Given the description of an element on the screen output the (x, y) to click on. 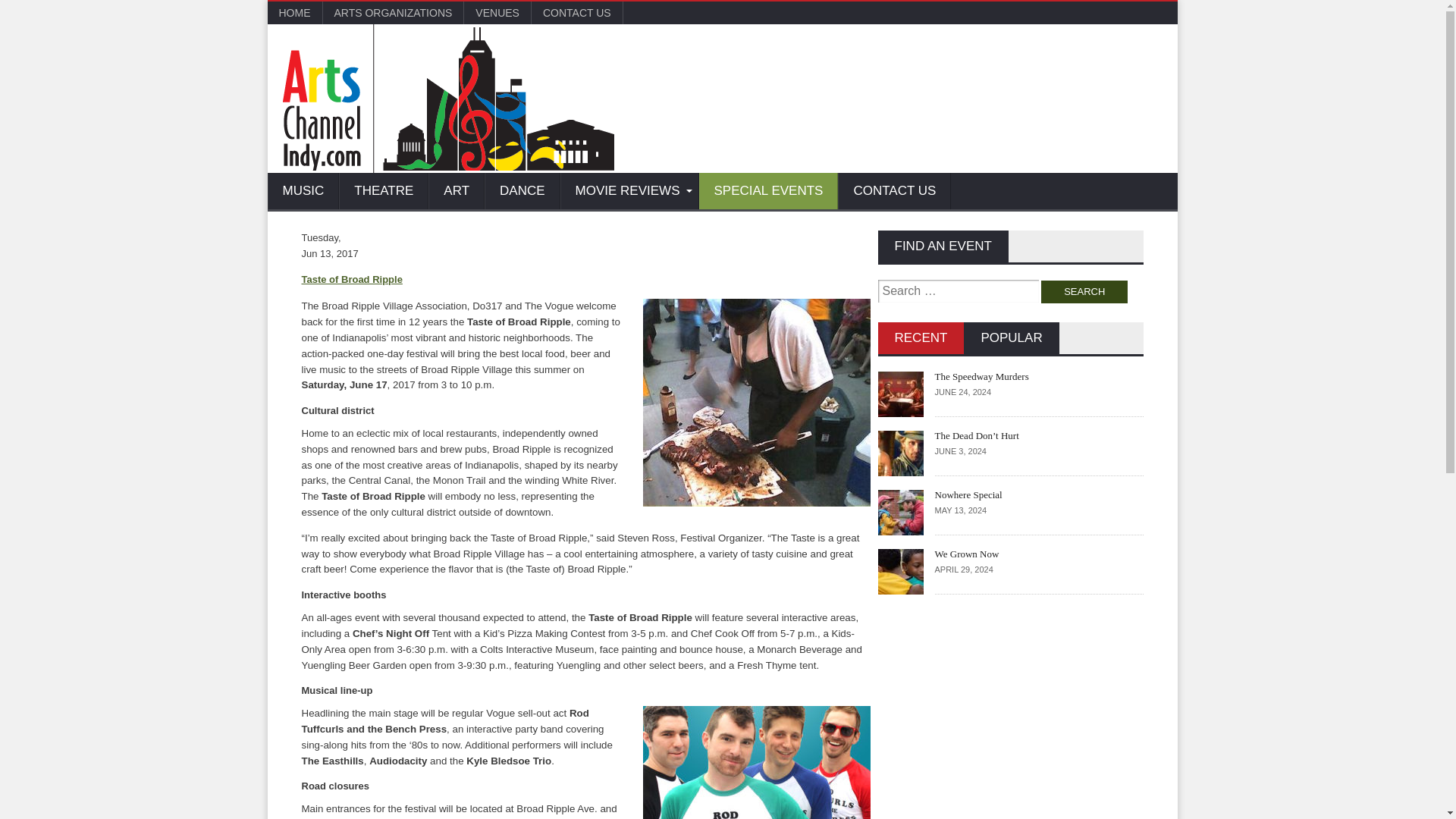
ARTS ORGANIZATIONS (393, 12)
CONTACT US (894, 190)
We Grown Now (966, 553)
DANCE (522, 190)
RECENT (920, 337)
Arts Channel Indy (447, 98)
MOVIE REVIEWS (629, 190)
THEATRE (383, 190)
HOME (293, 12)
VENUES (497, 12)
Nowhere Special (967, 494)
The Speedway Murders (980, 376)
Taste of Broad Ripple (352, 279)
ART (456, 190)
Search (1083, 291)
